Given the description of an element on the screen output the (x, y) to click on. 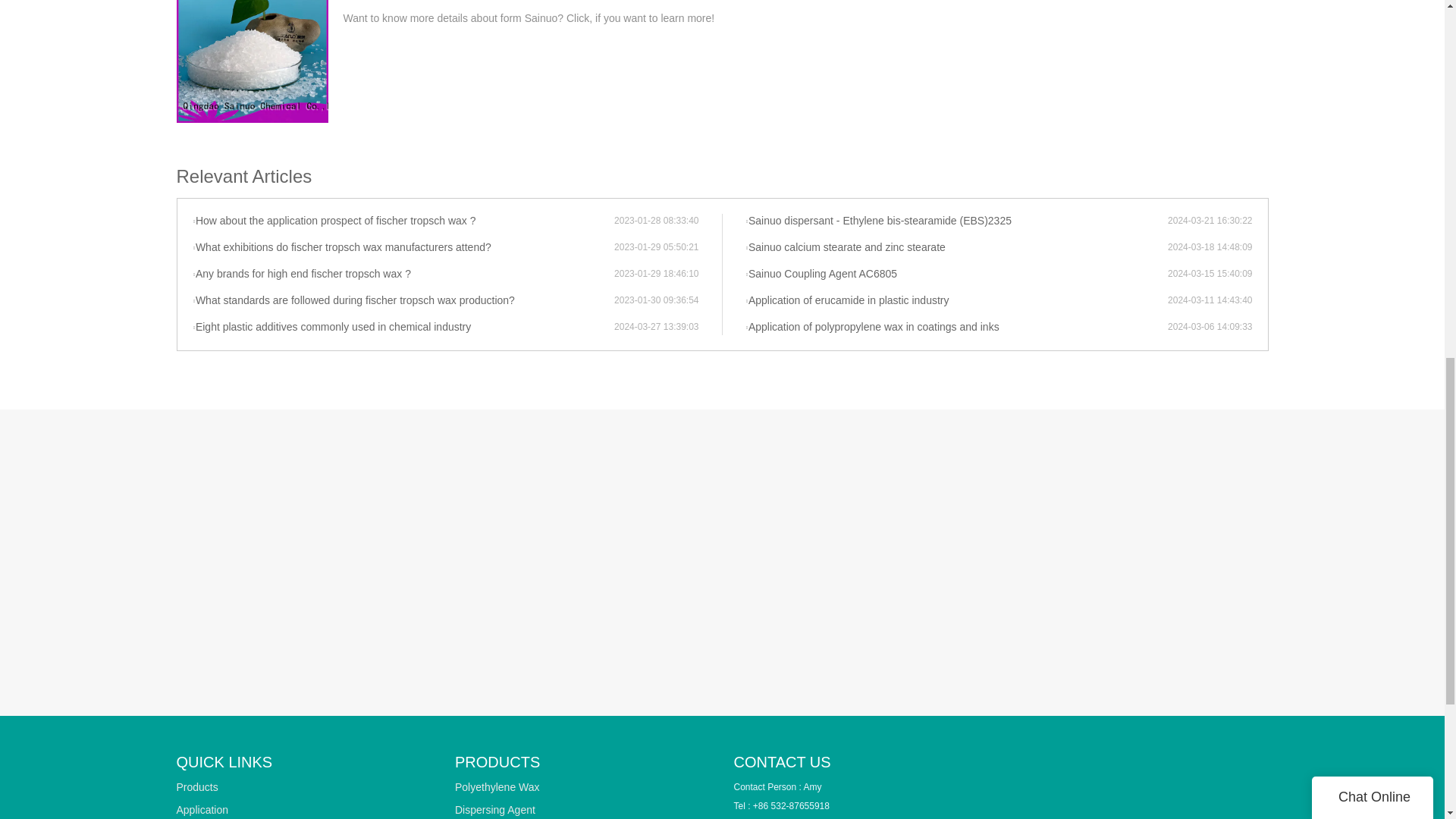
Sainuo Coupling Agent AC6805 (955, 273)
How about the application prospect of fischer tropsch wax ? (403, 221)
Any brands for high end fischer tropsch wax ? (403, 273)
Sainuo calcium stearate and zinc stearate (955, 247)
Eight plastic additives commonly used in chemical industry (403, 327)
